Given the description of an element on the screen output the (x, y) to click on. 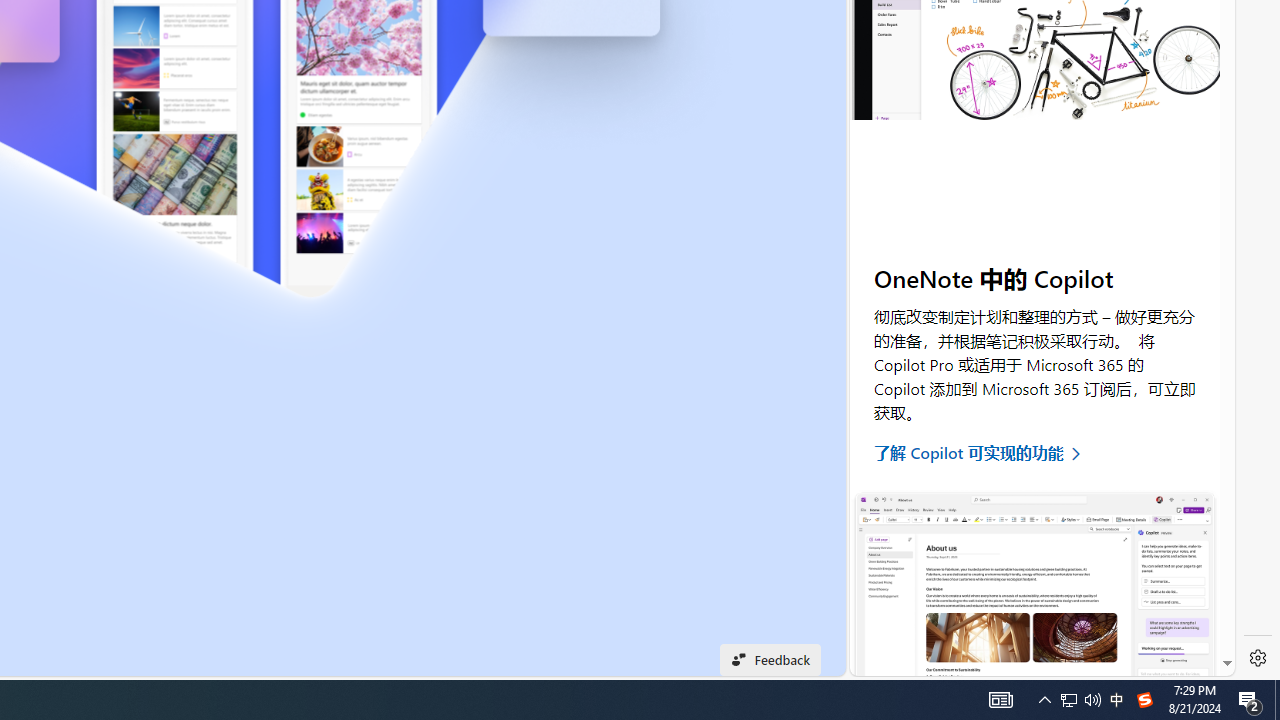
Feedback (769, 659)
